Given the description of an element on the screen output the (x, y) to click on. 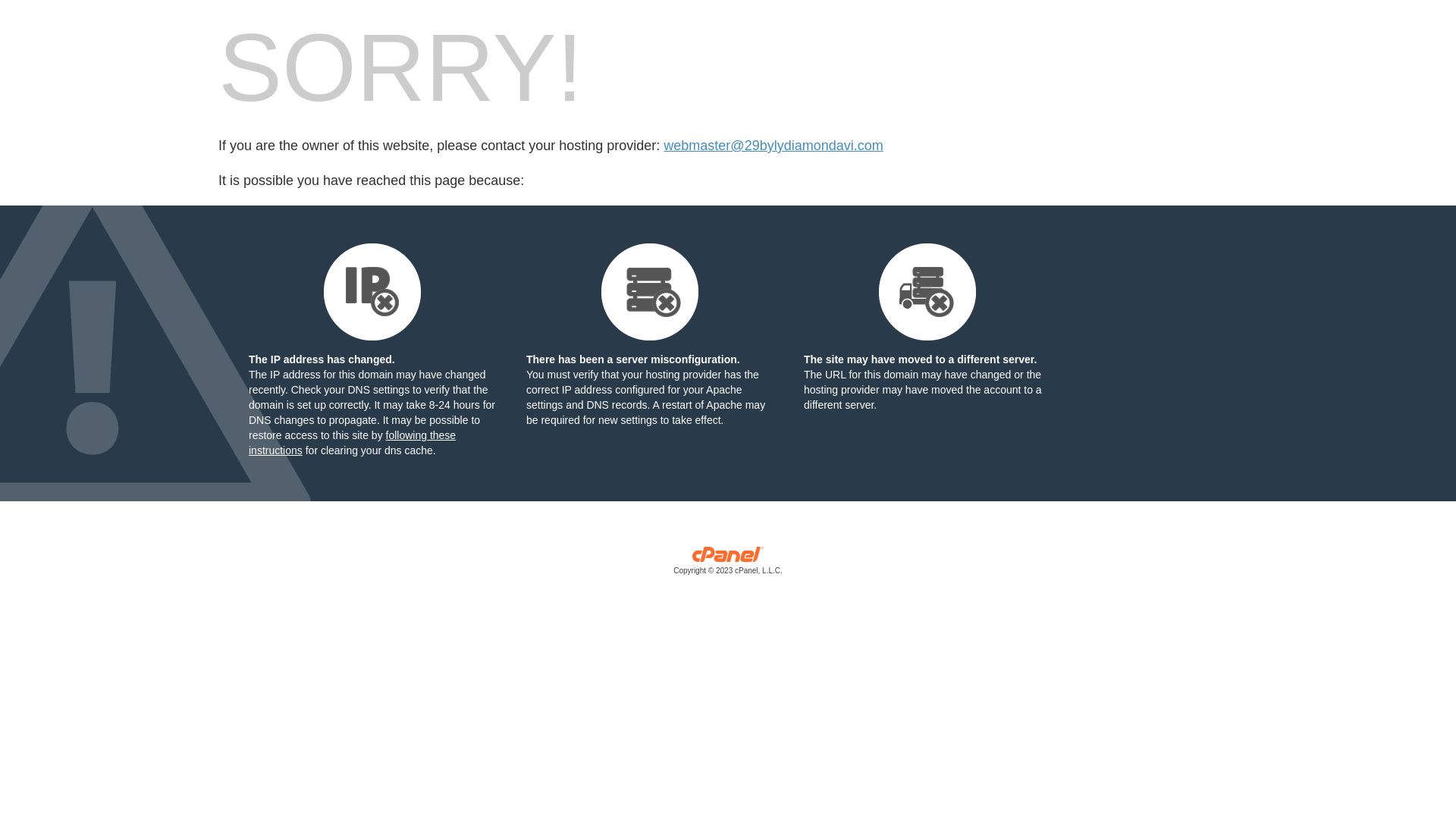
following these instructions Element type: text (351, 442)
webmaster@29bylydiamondavi.com Element type: text (772, 145)
